Given the description of an element on the screen output the (x, y) to click on. 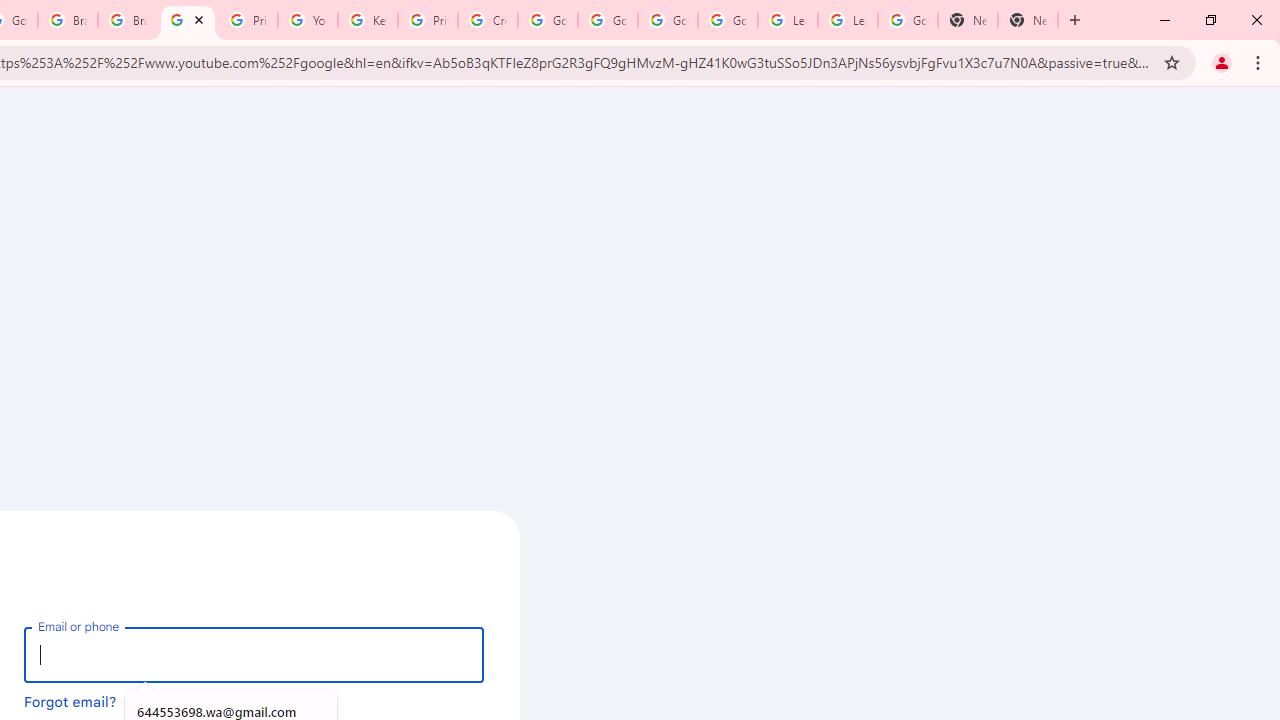
Google Account (908, 20)
Google Account Help (727, 20)
Google Account Help (607, 20)
New Tab (968, 20)
Google Account Help (548, 20)
YouTube (307, 20)
